Given the description of an element on the screen output the (x, y) to click on. 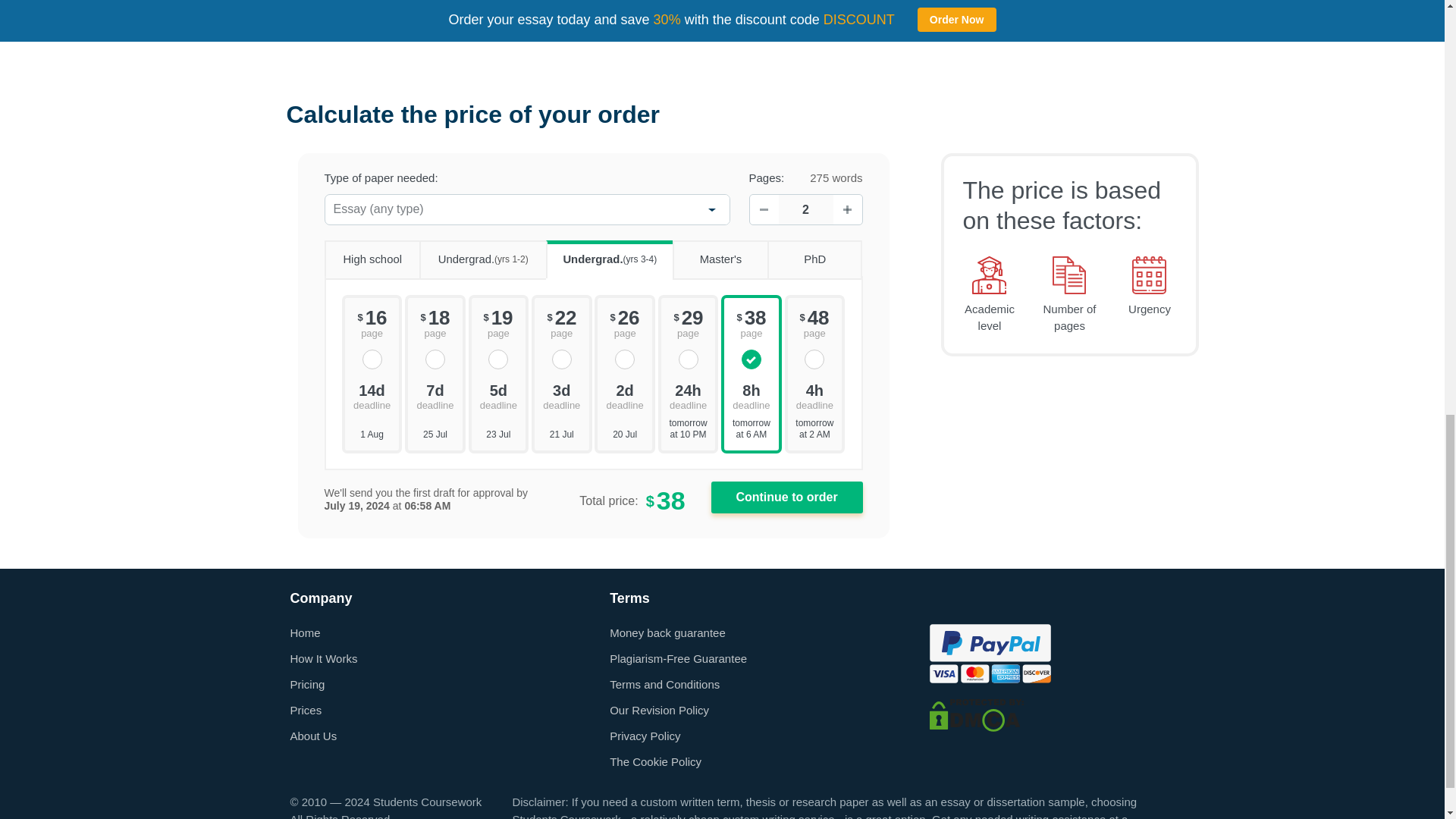
2 days (624, 395)
3 days (561, 395)
Money back guarantee (667, 632)
The Cookie Policy (655, 761)
Decrease (763, 208)
2 (804, 209)
Continue to Order (787, 497)
Prices (305, 709)
7 days (435, 395)
4 hours (815, 395)
Continue to order (787, 497)
About Us (312, 735)
14 days (372, 395)
DMCA (976, 713)
24 hours (688, 395)
